Given the description of an element on the screen output the (x, y) to click on. 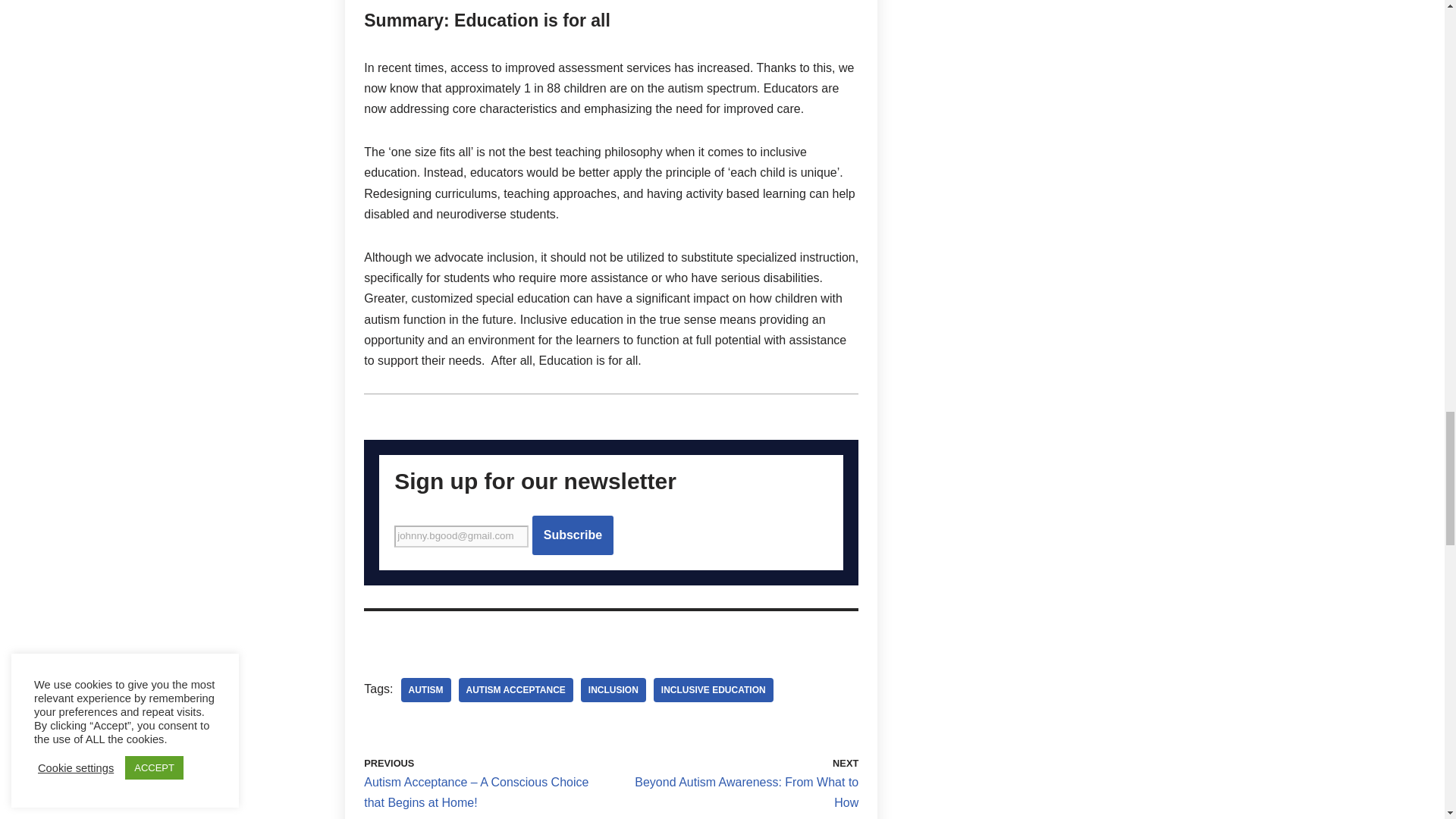
Subscribe (572, 535)
Autism (424, 689)
Inclusion (613, 689)
Inclusive Education (713, 689)
Autism Acceptance (515, 689)
